Given the description of an element on the screen output the (x, y) to click on. 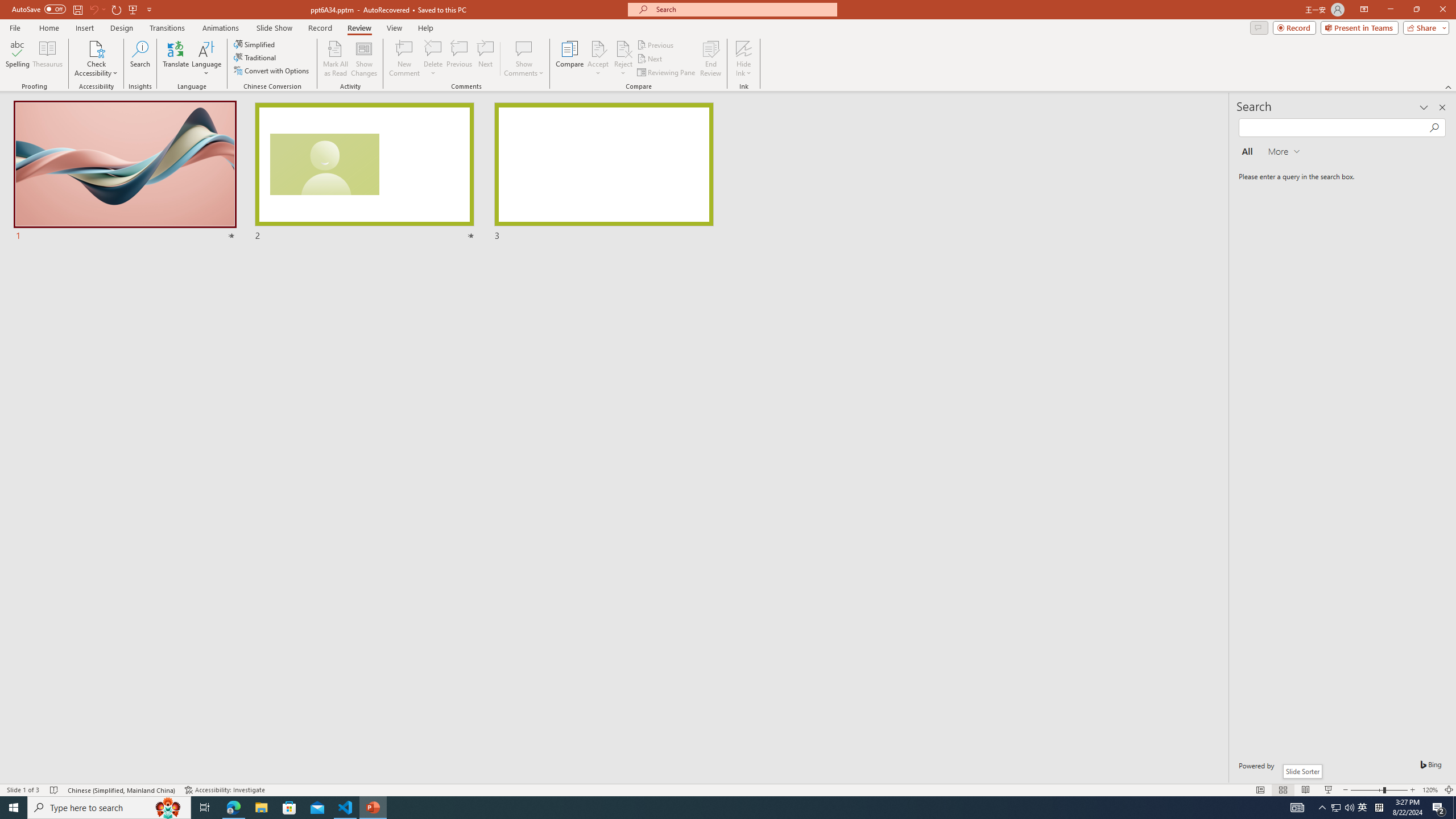
Show Comments (524, 48)
Close pane (1441, 107)
Accept Change (598, 48)
Show Changes (363, 58)
Traditional (255, 56)
From Beginning (133, 9)
Compare (569, 58)
File Tab (15, 27)
Task Pane Options (1423, 107)
Accessibility Checker Accessibility: Investigate (224, 790)
Delete (432, 48)
Next (649, 58)
